Given the description of an element on the screen output the (x, y) to click on. 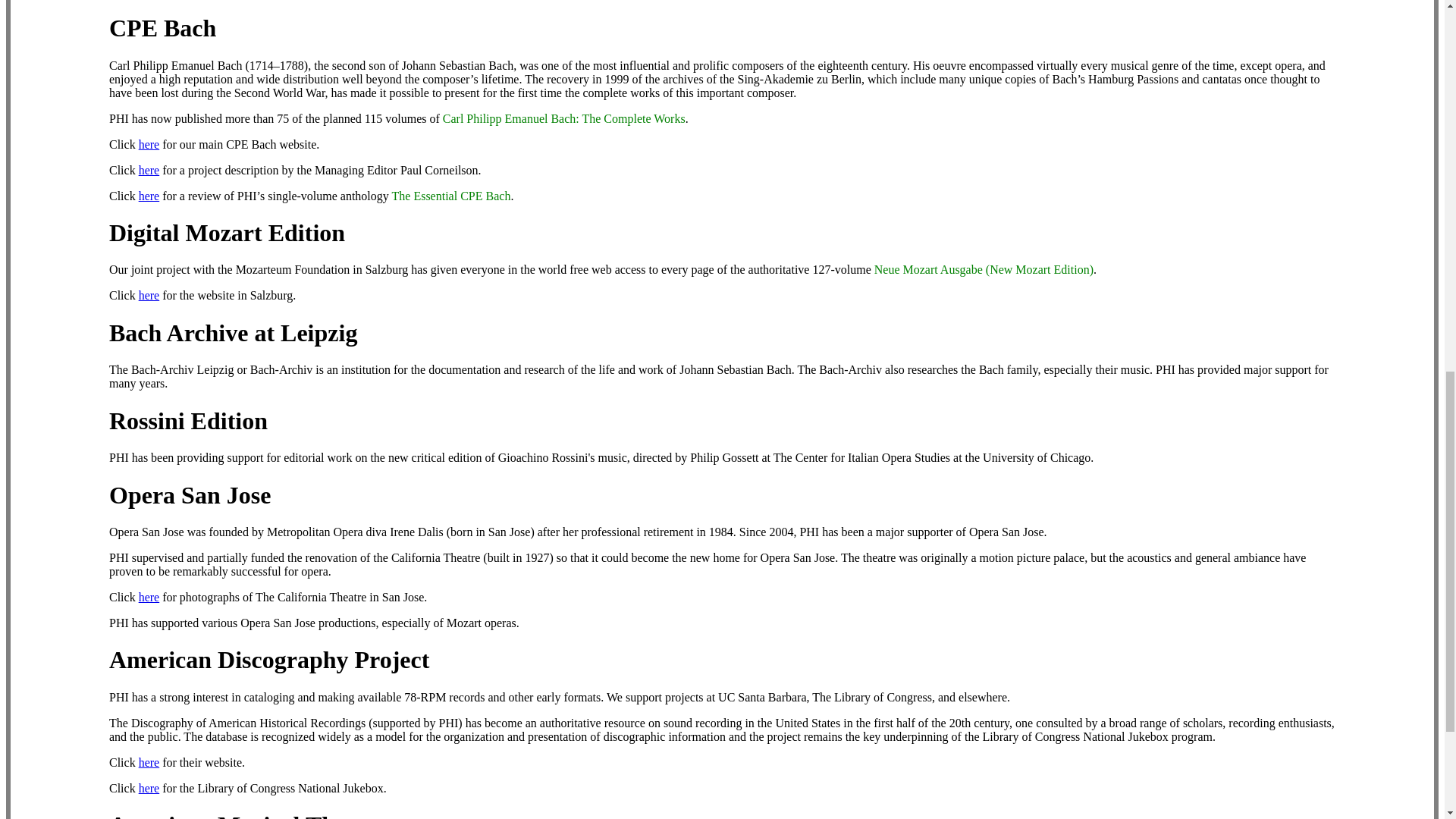
here (149, 195)
here (149, 144)
here (149, 762)
here (149, 295)
here (149, 169)
here (149, 788)
here (149, 596)
